Given the description of an element on the screen output the (x, y) to click on. 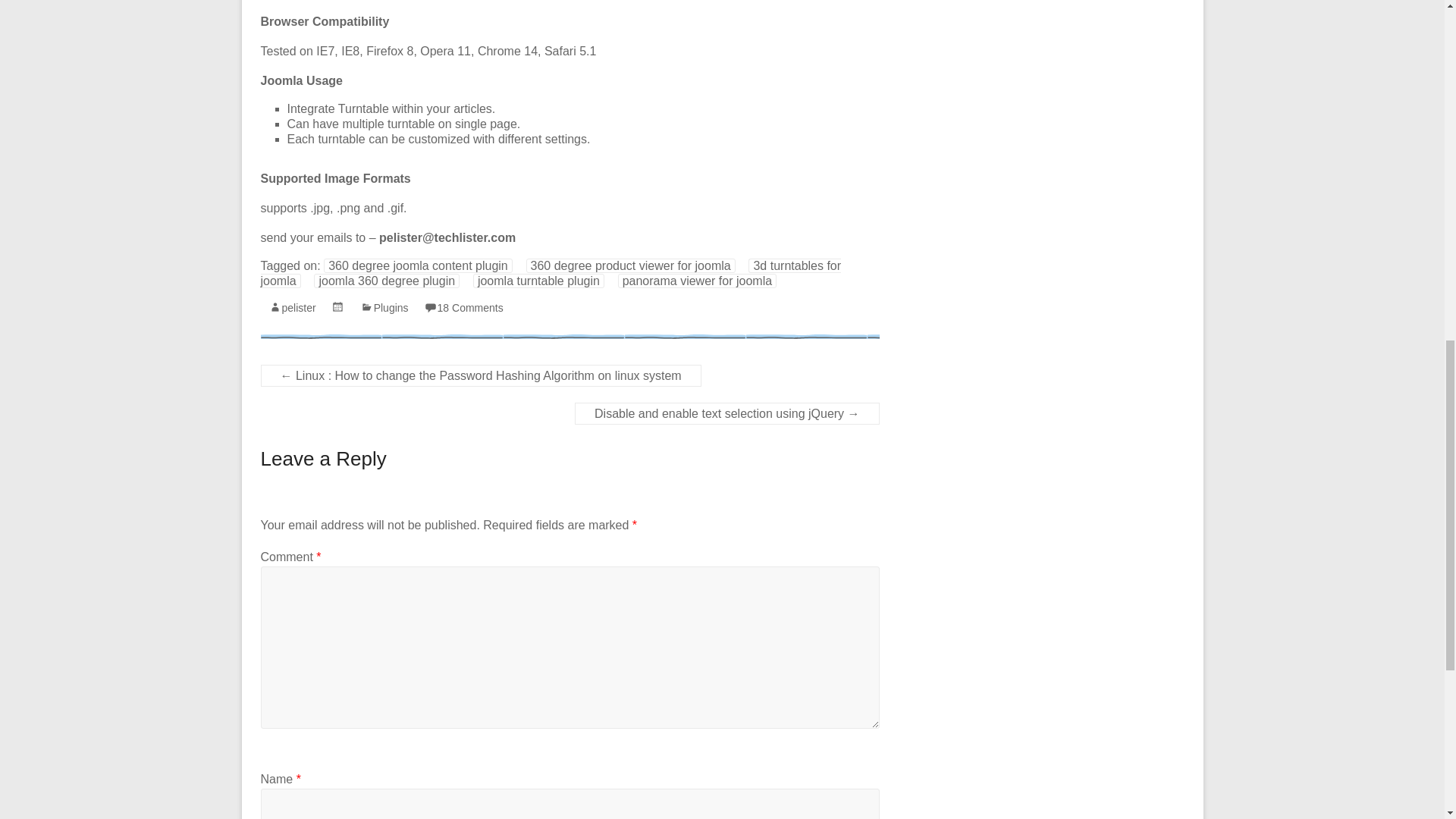
360 degree joomla content plugin (417, 265)
360 degree product viewer for joomla (630, 265)
joomla 360 degree plugin (387, 280)
panorama viewer for joomla (696, 280)
pelister (298, 307)
3d turntables for joomla (550, 273)
Plugins (391, 307)
18 Comments (470, 307)
joomla turntable plugin (538, 280)
